Given the description of an element on the screen output the (x, y) to click on. 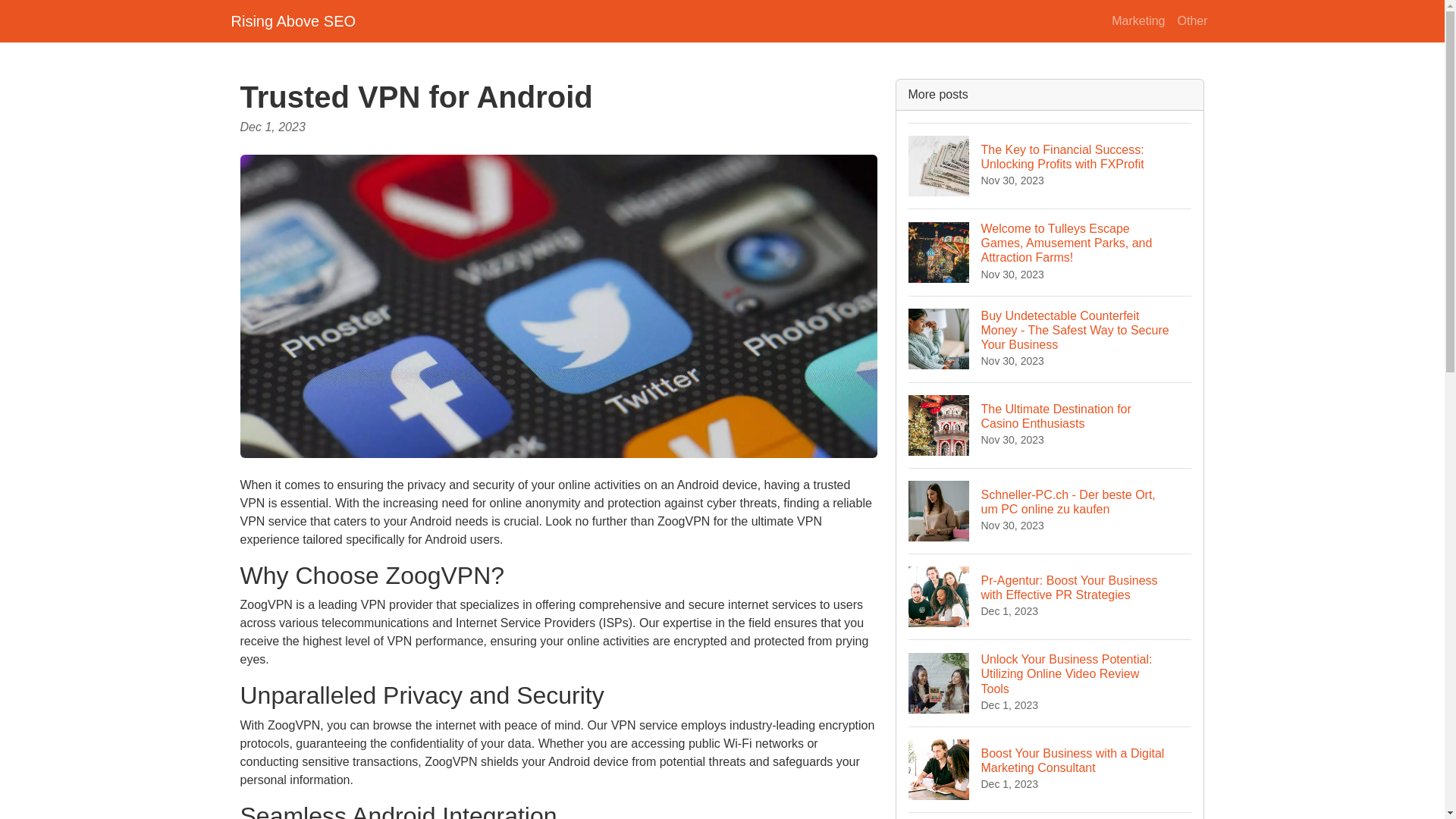
Rising Above SEO (1050, 424)
Other (292, 20)
